Given the description of an element on the screen output the (x, y) to click on. 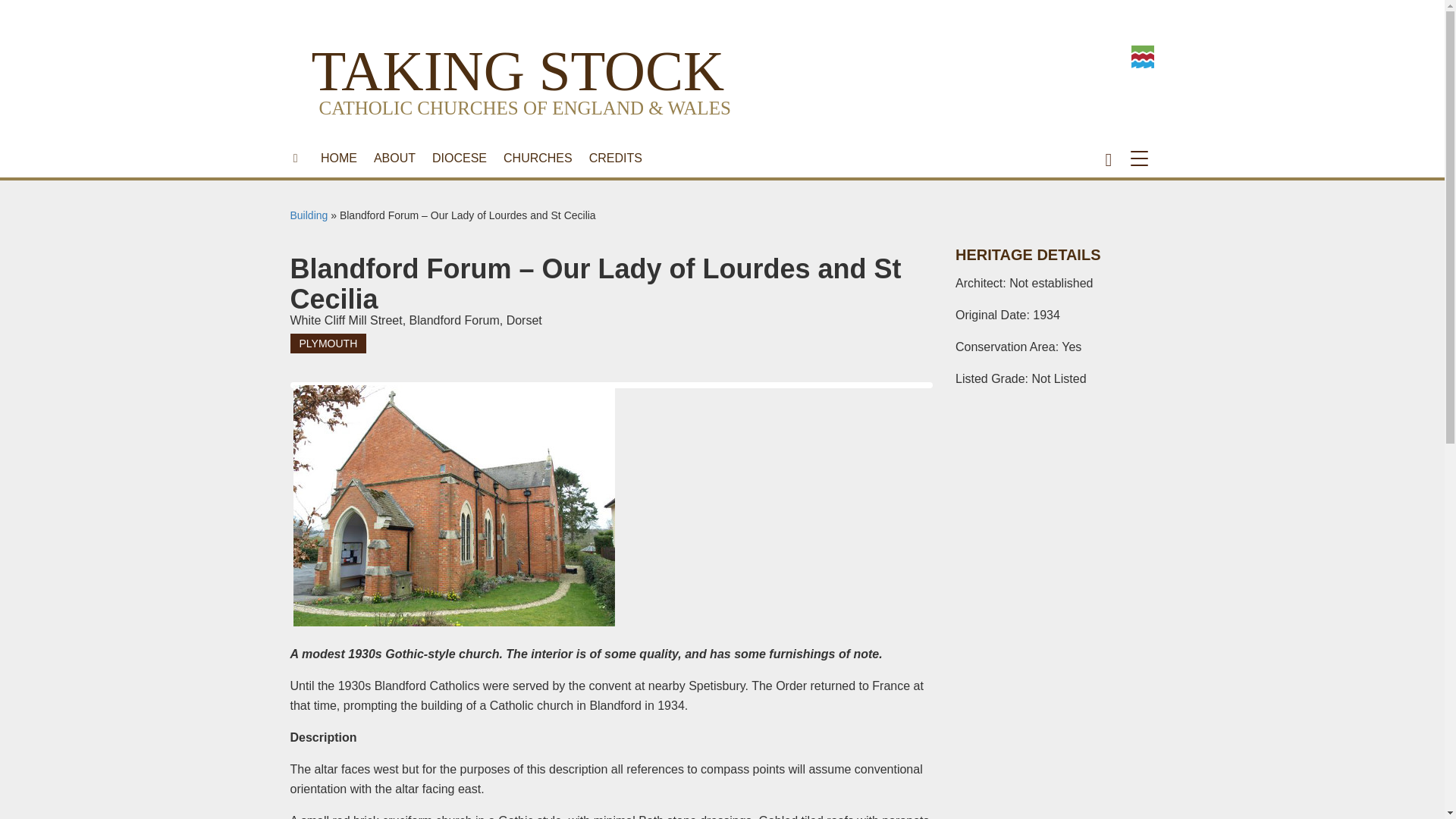
DIOCESE (459, 158)
CREDITS (615, 158)
Building (308, 215)
HOME (339, 158)
PLYMOUTH (327, 342)
CHURCHES (537, 158)
TOGGLE NAVIGATION (1142, 157)
ABOUT (394, 158)
